Given the description of an element on the screen output the (x, y) to click on. 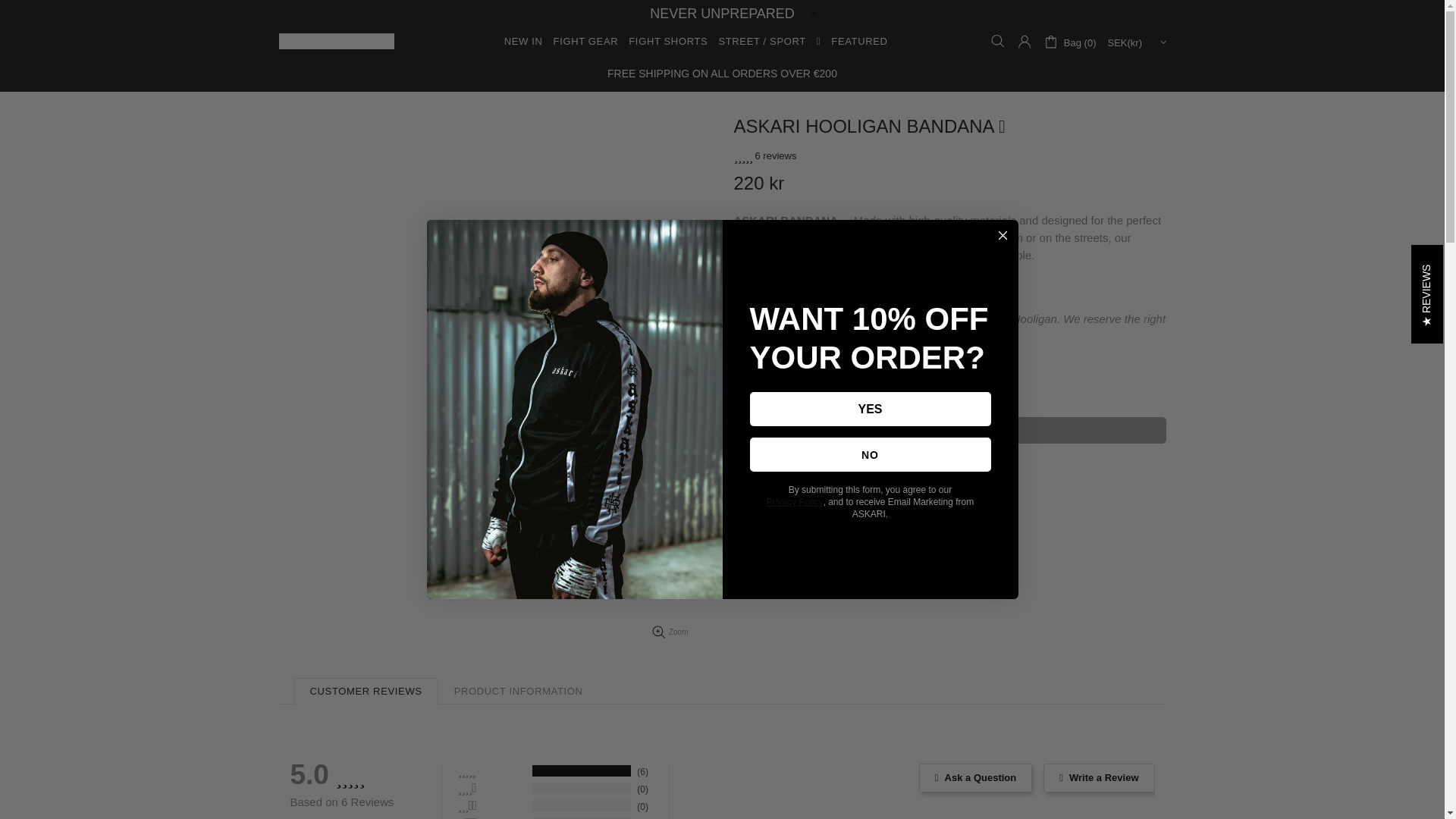
Askari (336, 40)
NEW IN (523, 41)
FIGHT GEAR (586, 41)
FIGHT SHORTS (668, 41)
SUBSCRIBE! (1110, 584)
